Given the description of an element on the screen output the (x, y) to click on. 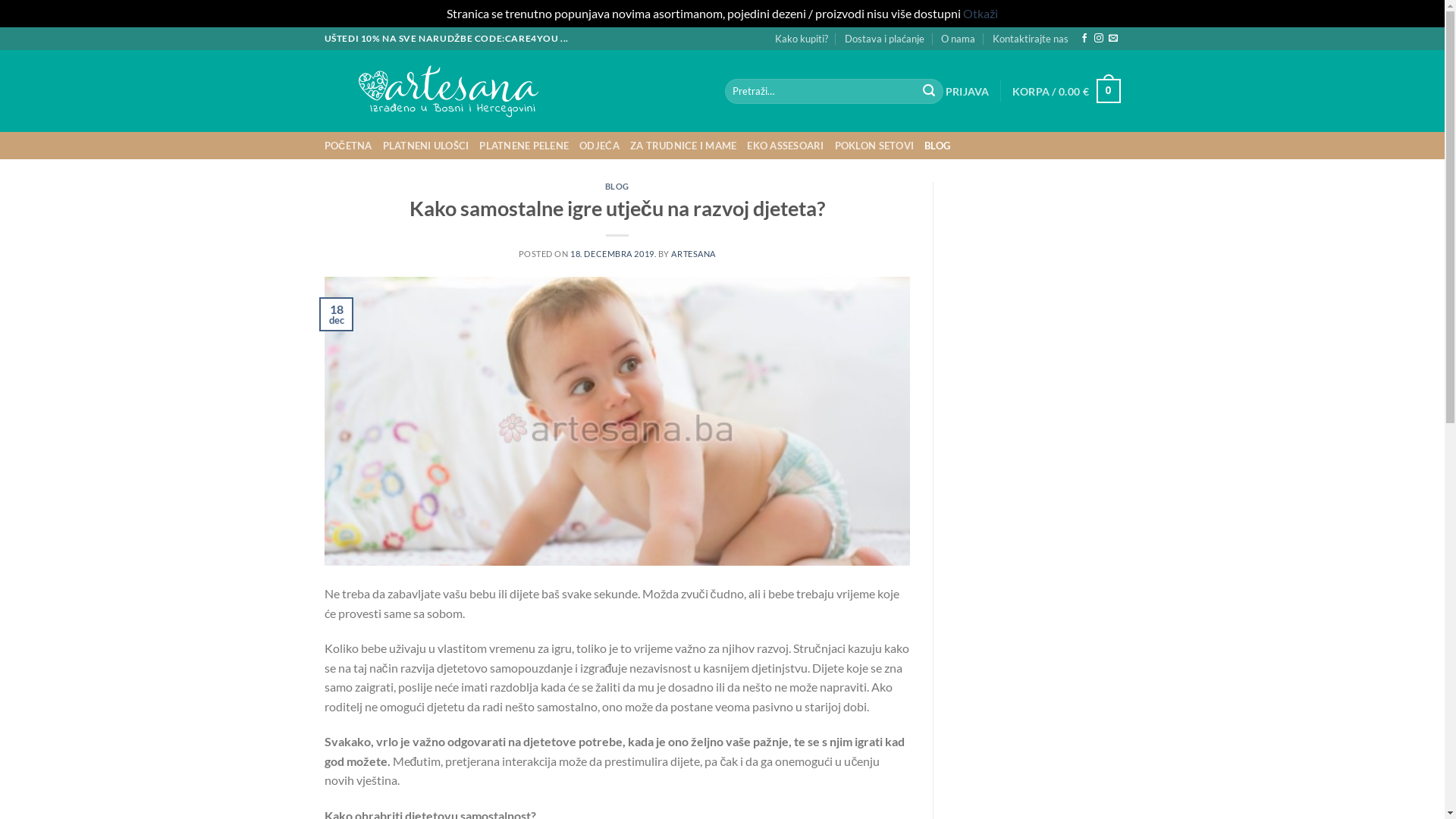
BLOG Element type: text (617, 186)
18. DECEMBRA 2019. Element type: text (612, 253)
EKO ASSESOARI Element type: text (784, 145)
ZA TRUDNICE I MAME Element type: text (683, 145)
Skip to content Element type: text (0, 27)
ARTESANA Element type: text (693, 253)
Kontaktirajte nas Element type: text (1030, 38)
BLOG Element type: text (937, 145)
POKLON SETOVI Element type: text (873, 145)
Kako kupiti? Element type: text (801, 38)
PLATNENE PELENE Element type: text (523, 145)
PRIJAVA Element type: text (967, 91)
O nama Element type: text (958, 38)
